Given the description of an element on the screen output the (x, y) to click on. 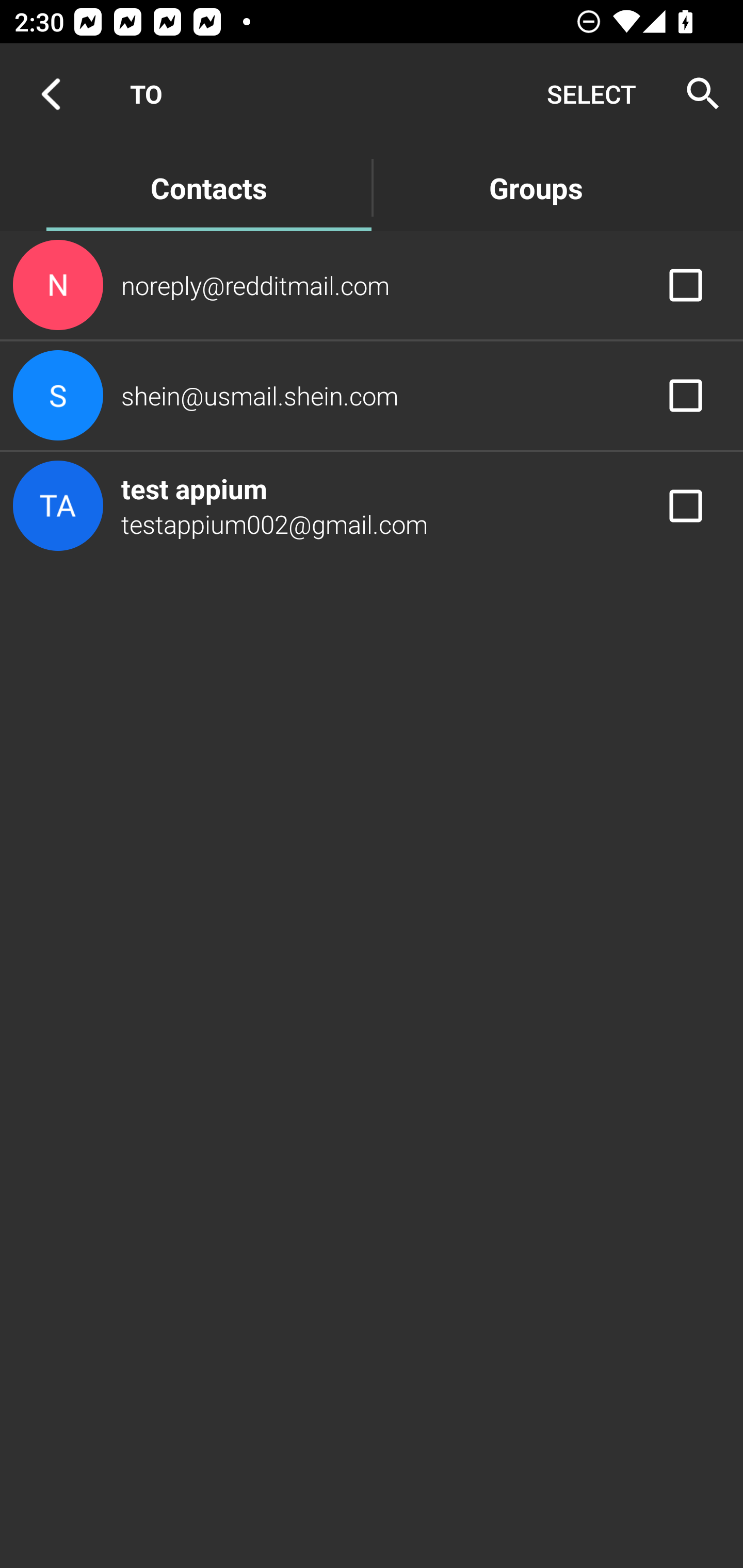
Navigate up (50, 93)
SELECT (590, 93)
Search (696, 93)
Contacts (208, 187)
Groups (535, 187)
noreply@redditmail.com (371, 284)
shein@usmail.shein.com (371, 395)
test appium testappium002@gmail.com (371, 505)
